Given the description of an element on the screen output the (x, y) to click on. 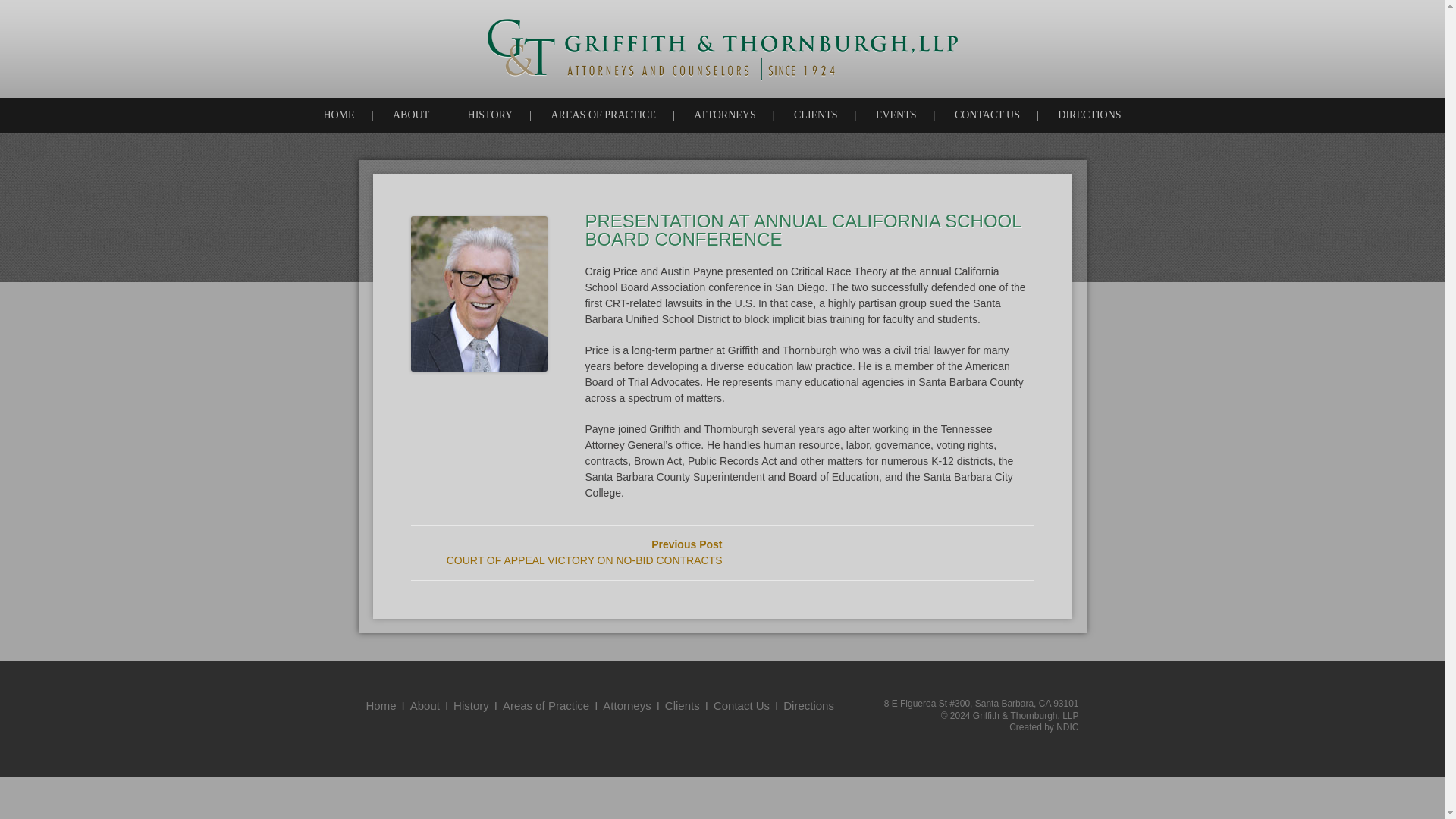
CONTACT US (986, 114)
HISTORY (490, 114)
History (470, 705)
About (424, 705)
Skip to content (754, 115)
ATTORNEYS (724, 114)
Attorneys (626, 705)
Skip to content (754, 115)
Areas of Practice (545, 705)
CLIENTS (815, 114)
DIRECTIONS (1089, 114)
EVENTS (896, 114)
ABOUT (410, 114)
Clients (682, 705)
